Given the description of an element on the screen output the (x, y) to click on. 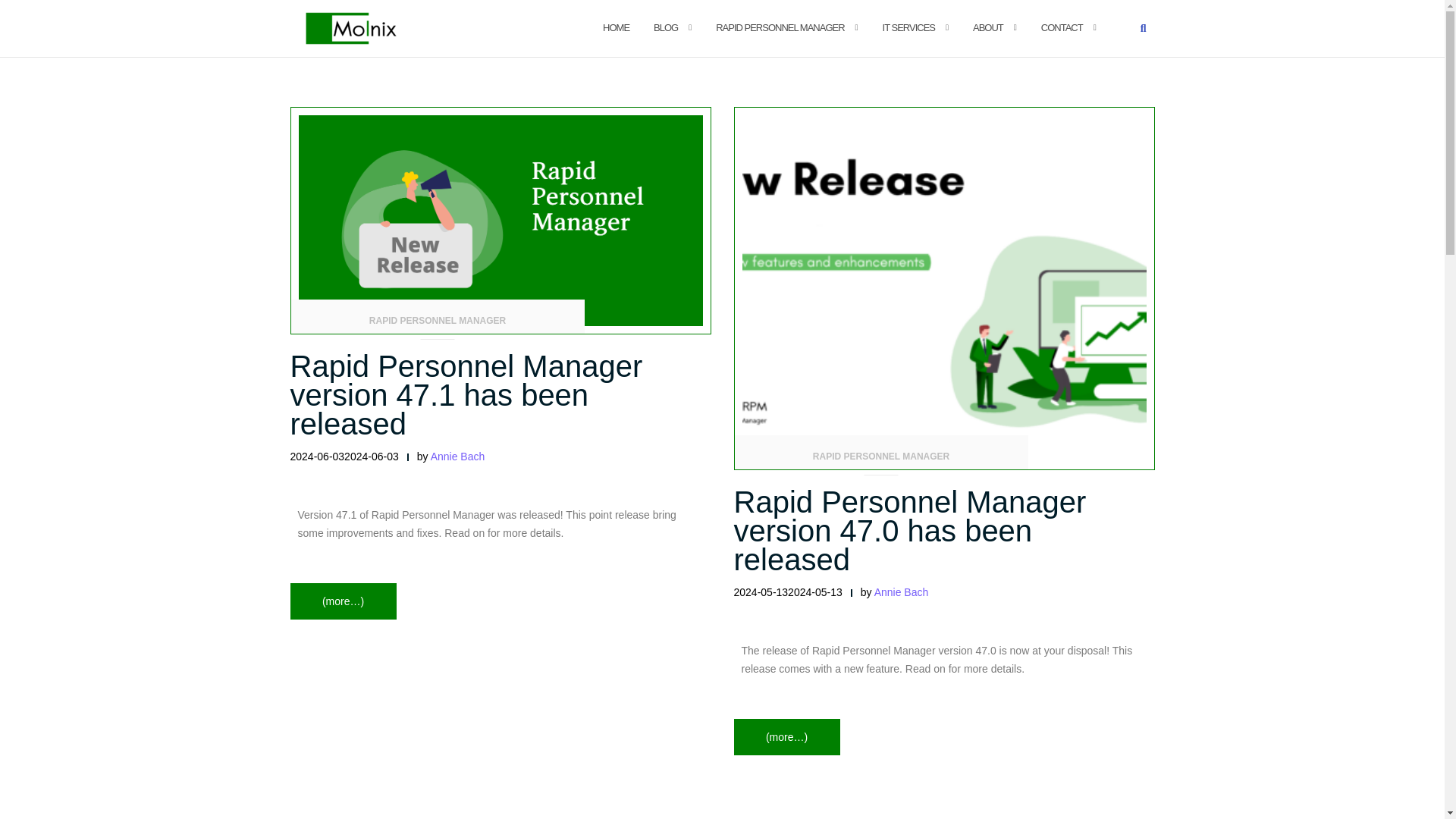
Annie Bach (457, 456)
Rapid Personnel Manager (780, 28)
RAPID PERSONNEL MANAGER (438, 325)
IT SERVICES (908, 28)
RAPID PERSONNEL MANAGER (780, 28)
Rapid Personnel Manager version 47.1 has been released (465, 394)
IT services (908, 28)
CONTACT (1062, 28)
RAPID PERSONNEL MANAGER (880, 461)
